Given the description of an element on the screen output the (x, y) to click on. 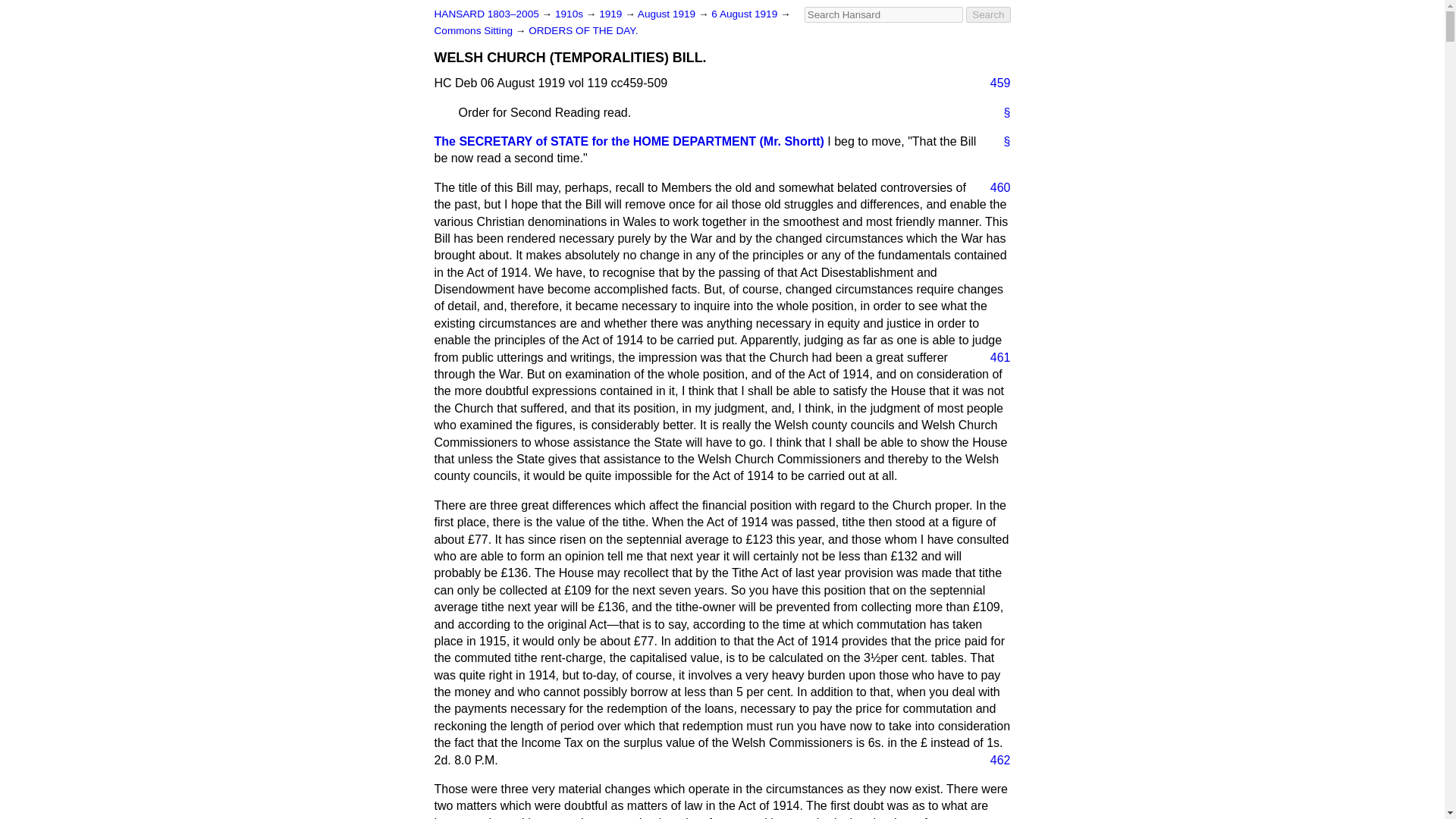
1910s (570, 13)
ORDERS OF THE DAY. (582, 30)
Link to this contribution (1000, 112)
Access key: S (883, 14)
Search (988, 14)
460 (994, 187)
459 (994, 83)
Search (988, 14)
Mr Edward Shortt (628, 141)
462 (994, 760)
